Given the description of an element on the screen output the (x, y) to click on. 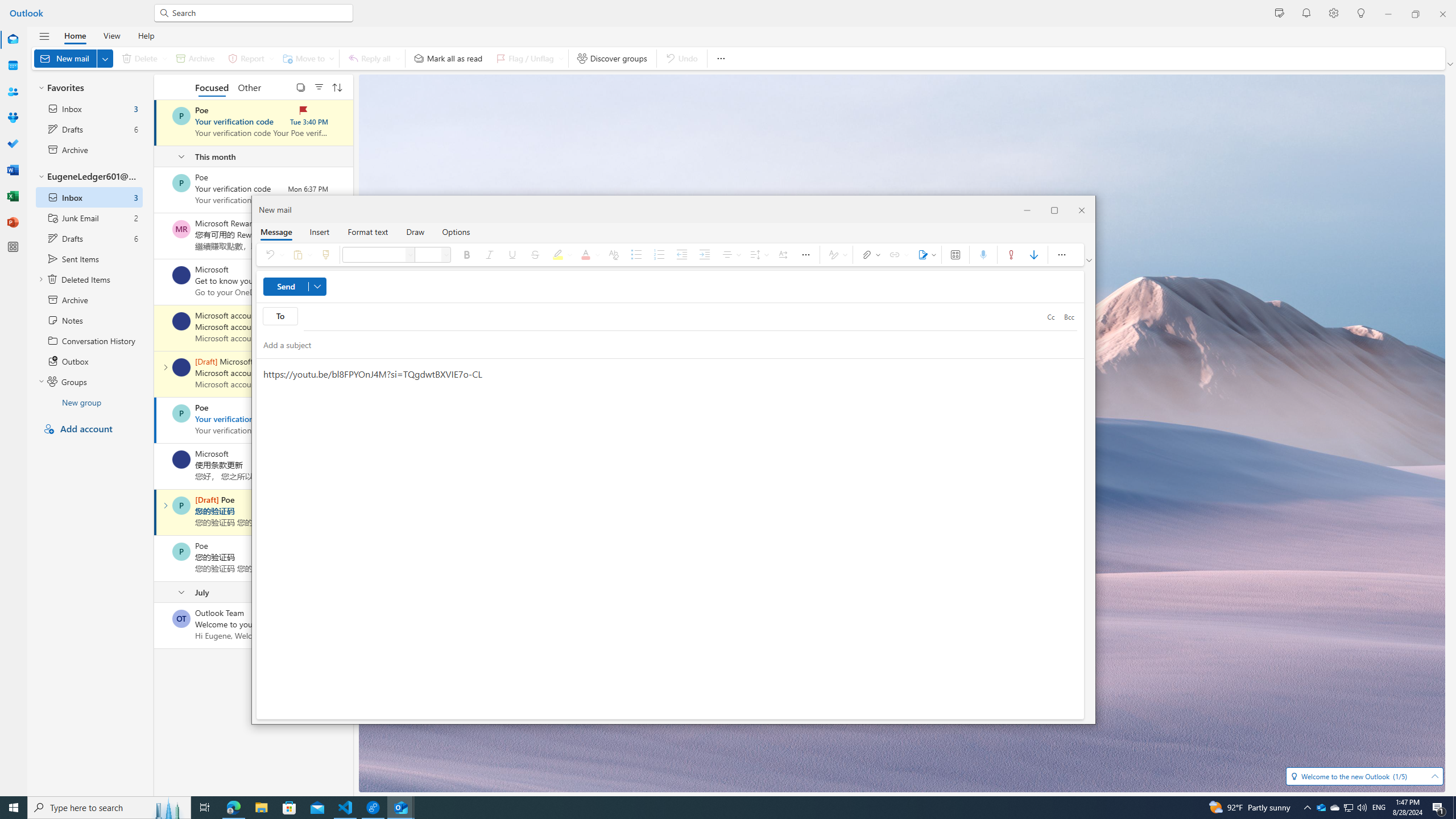
User Promoted Notification Area (1347, 807)
Mark as read (154, 511)
Message (276, 231)
Link (897, 254)
People (12, 91)
Outlook Team (180, 618)
Calendar (12, 65)
To (280, 316)
Mark as unread (154, 625)
Excel (12, 196)
Font color (588, 254)
Search highlights icon opens search home window (167, 807)
View (111, 35)
